Given the description of an element on the screen output the (x, y) to click on. 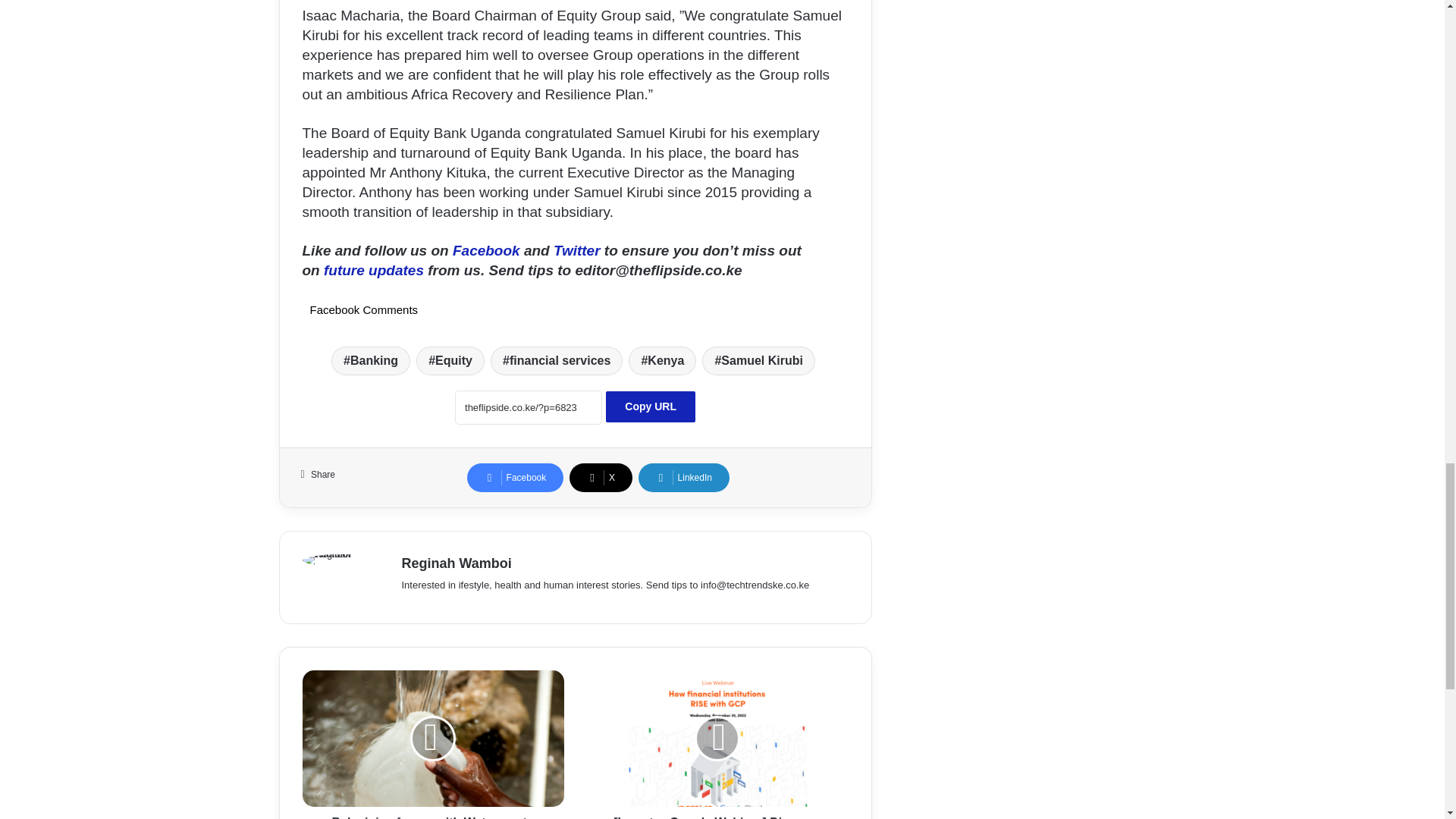
Twitter (576, 250)
Facebook  (488, 250)
Samuel Kirubi (757, 360)
future updates (373, 270)
Equity (450, 360)
Kenya (661, 360)
financial services (556, 360)
Banking (370, 360)
